Given the description of an element on the screen output the (x, y) to click on. 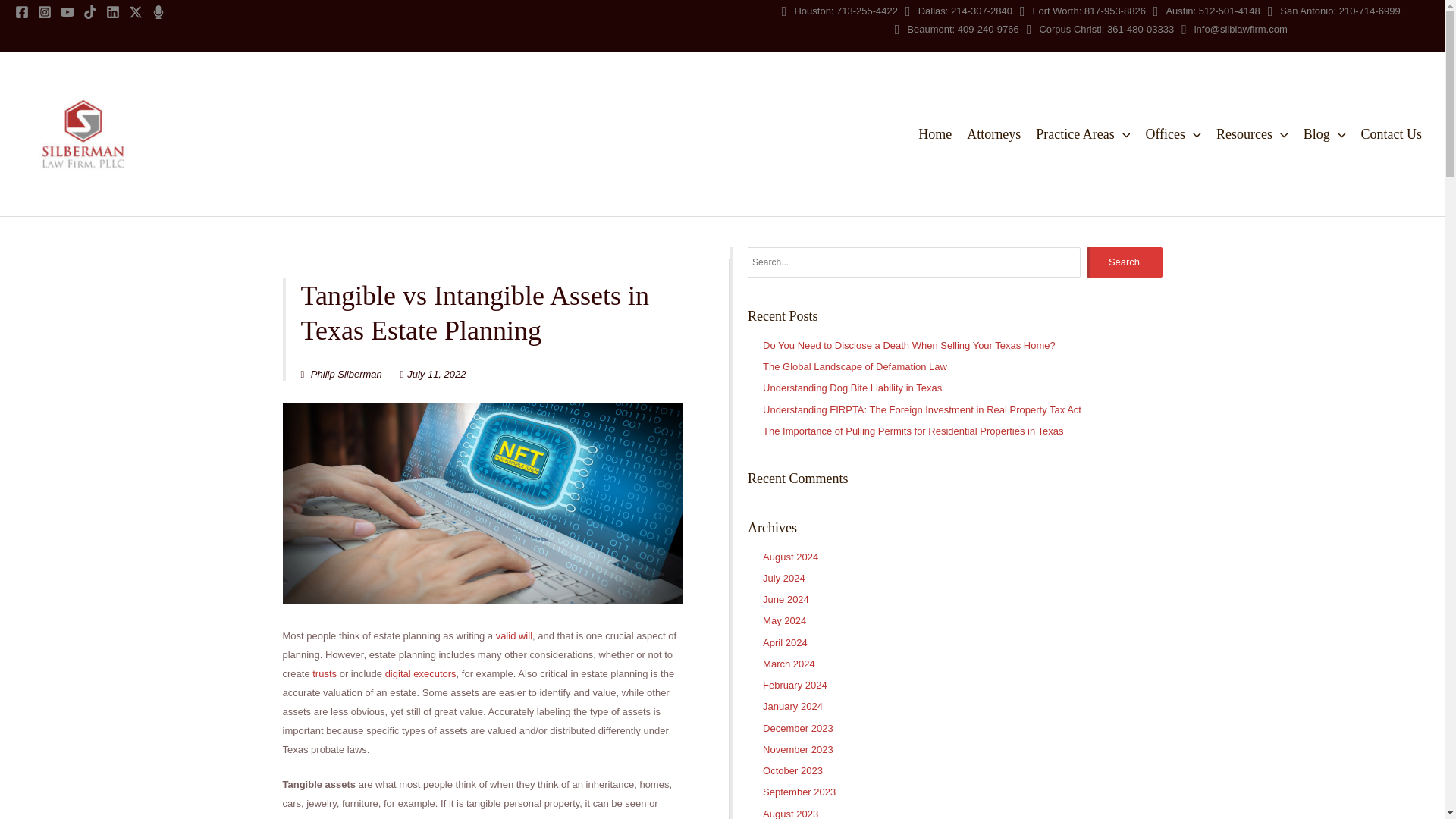
Practice Areas (1082, 133)
Fort Worth: 817-953-8826 (1082, 11)
San Antonio: 210-714-6999 (1334, 11)
Corpus Christi: 361-480-03333 (1099, 29)
Philip Silberman (340, 374)
Offices (1172, 133)
Search (1123, 262)
Attorneys (993, 133)
Tangible vs Intangible Assets in Texas Estate Planning (482, 502)
Search (1123, 262)
